Given the description of an element on the screen output the (x, y) to click on. 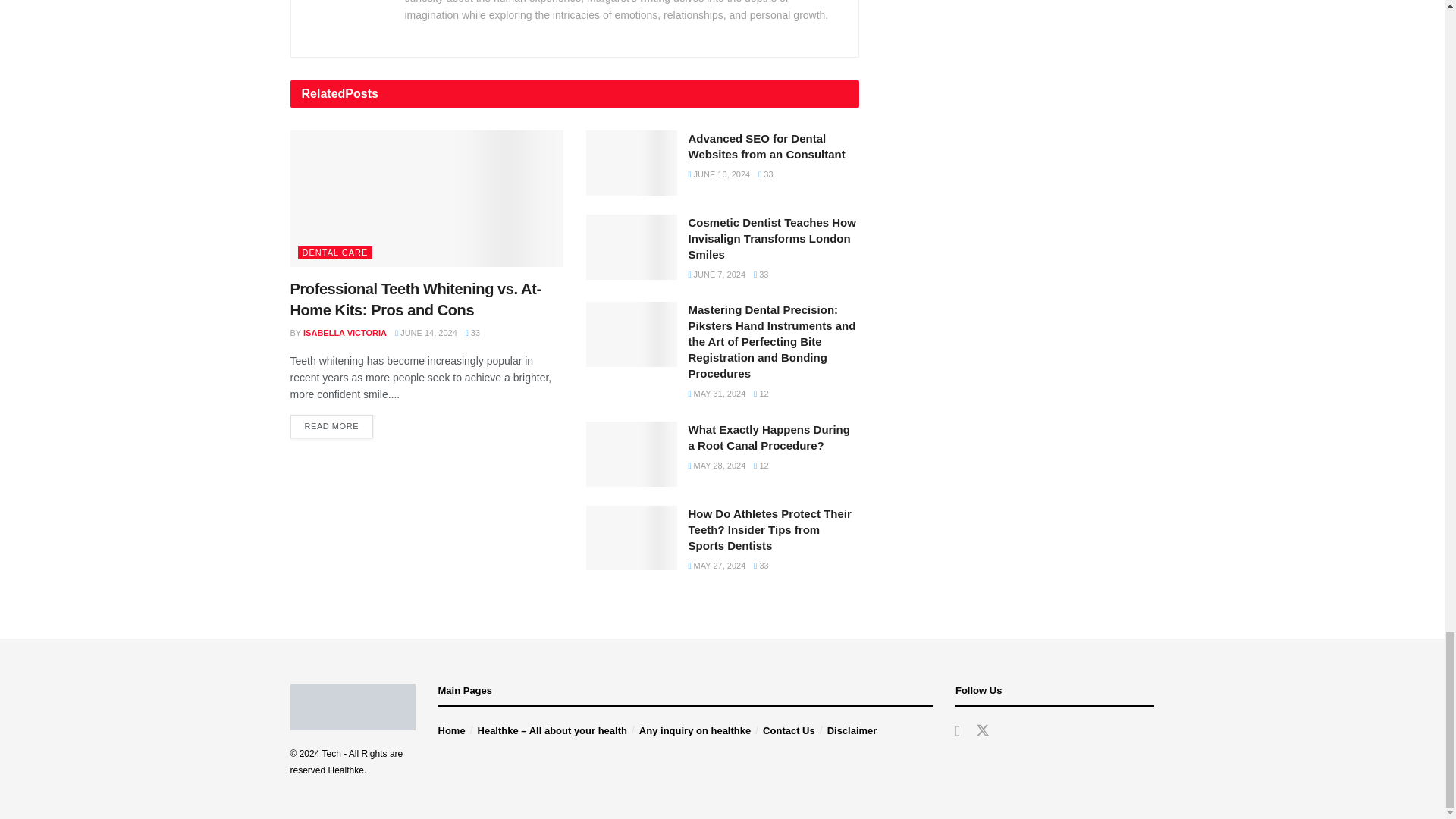
Tech (330, 753)
Healthke (346, 769)
